Given the description of an element on the screen output the (x, y) to click on. 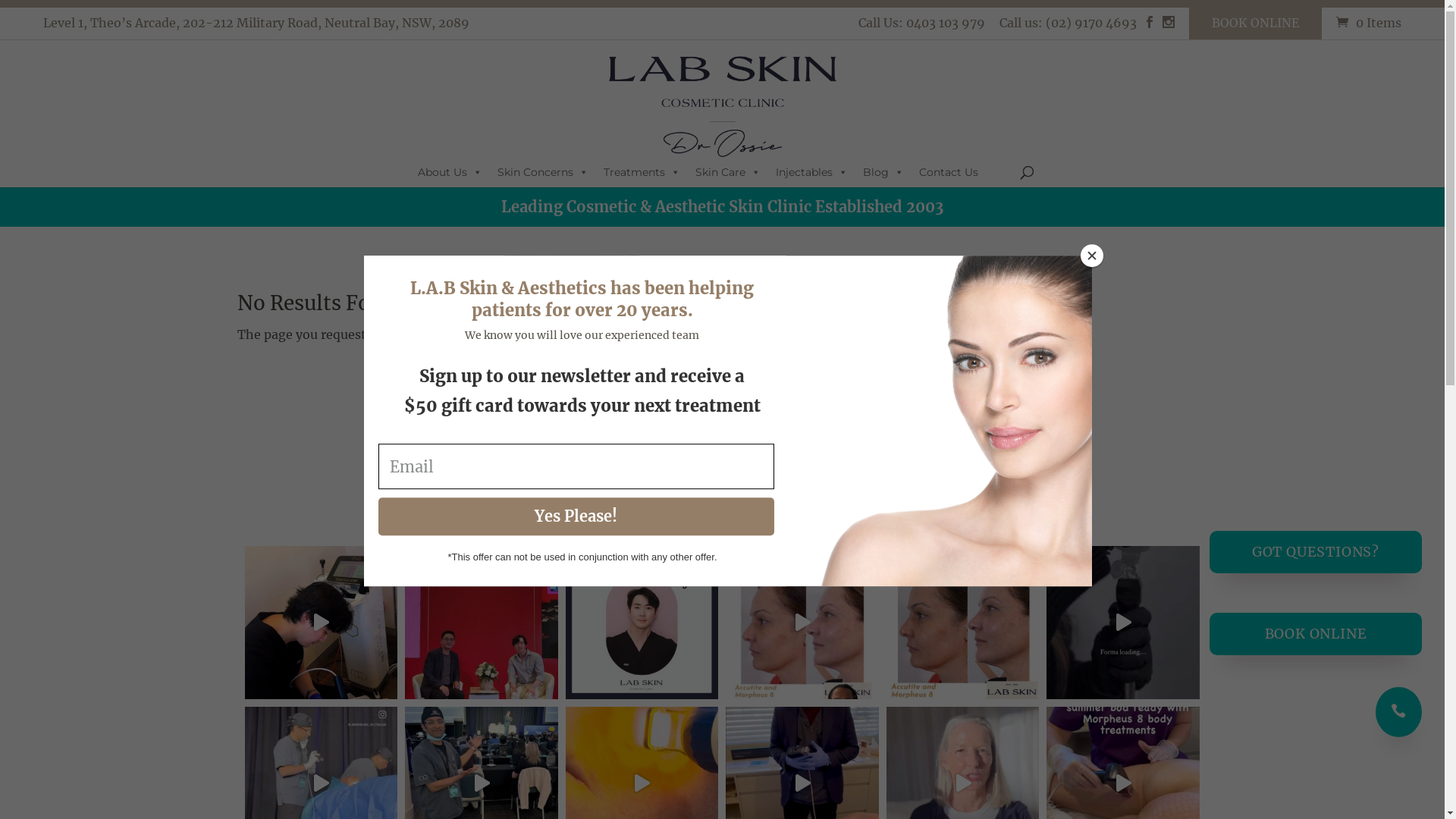
BOOK ONLINE Element type: text (1315, 633)
Injectables Element type: text (811, 171)
Treatments Element type: text (641, 171)
BOOK ONLINE Element type: text (1255, 22)
Call us: (02) 9170 4693 Element type: text (1067, 26)
GOT QUESTIONS? Element type: text (1315, 551)
Skin Concerns Element type: text (542, 171)
Blog Element type: text (883, 171)
Yes Please! Element type: text (575, 516)
Contact Us Element type: text (948, 171)
0 Items Element type: text (1367, 22)
Skin Care Element type: text (727, 171)
About Us Element type: text (449, 171)
Call Us: 0403 103 979 Element type: text (921, 26)
